Given the description of an element on the screen output the (x, y) to click on. 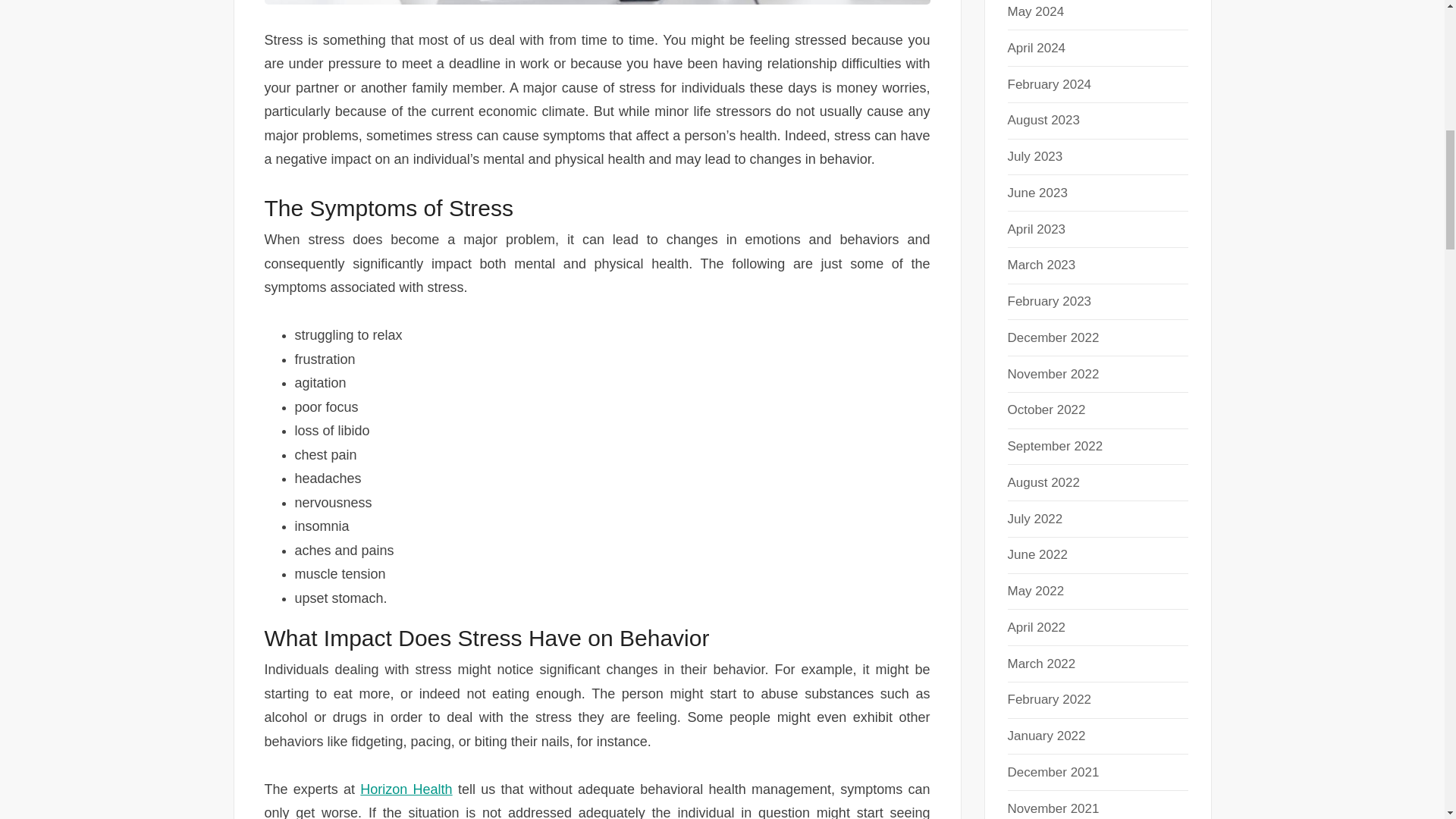
Horizon Health (405, 789)
